Given the description of an element on the screen output the (x, y) to click on. 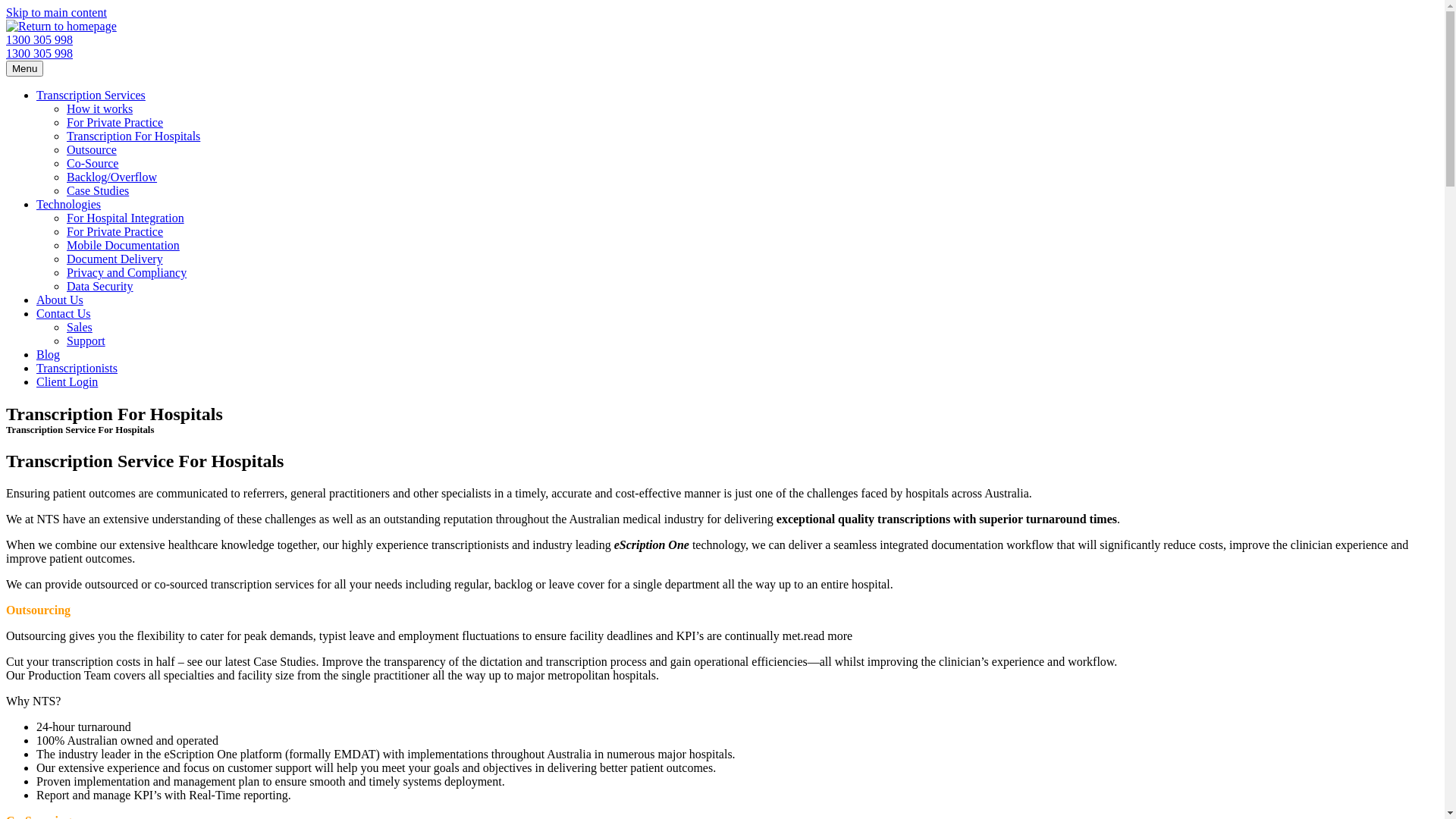
Transcriptionists Element type: text (76, 367)
For Private Practice Element type: text (114, 231)
Document Delivery Element type: text (114, 258)
Outsource Element type: text (91, 149)
Case Studies Element type: text (97, 190)
Skip to main content Element type: text (56, 12)
Menu Element type: text (24, 68)
Mobile Documentation Element type: text (122, 244)
1300 305 998 Element type: text (39, 39)
Privacy and Compliancy Element type: text (126, 272)
1300 305 998 Element type: text (39, 53)
Transcription For Hospitals Element type: text (133, 135)
Sales Element type: text (79, 326)
Backlog/Overflow Element type: text (111, 176)
Co-Source Element type: text (92, 162)
Technologies Element type: text (68, 203)
Data Security Element type: text (99, 285)
Contact Us Element type: text (63, 313)
Return to homepage Element type: hover (61, 25)
Blog Element type: text (47, 354)
For Hospital Integration Element type: text (125, 217)
Transcription Services Element type: text (90, 94)
About Us Element type: text (59, 299)
Client Login Element type: text (66, 381)
How it works Element type: text (99, 108)
Support Element type: text (85, 340)
For Private Practice Element type: text (114, 122)
